Given the description of an element on the screen output the (x, y) to click on. 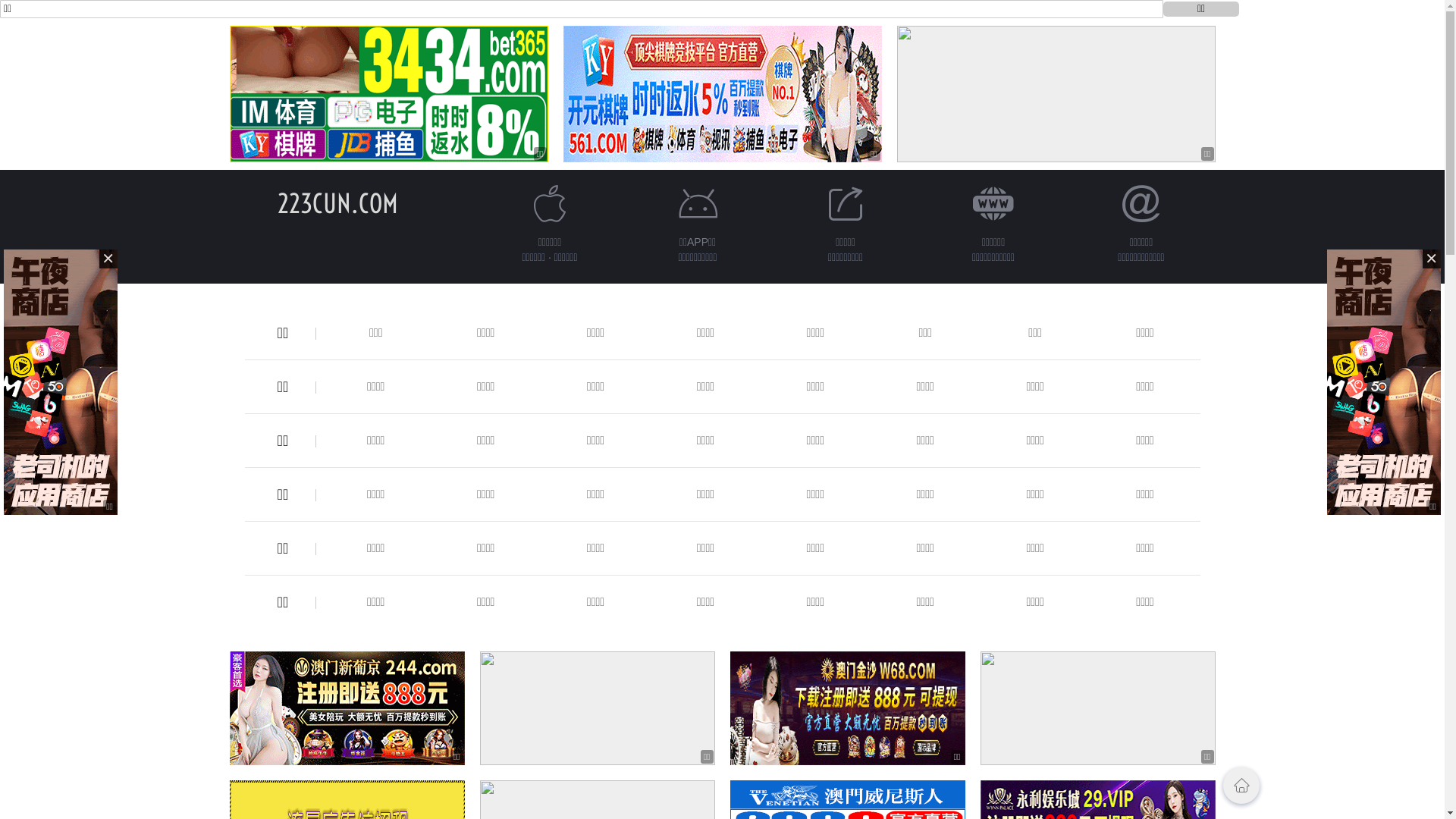
223CUN.COM Element type: text (337, 203)
